Given the description of an element on the screen output the (x, y) to click on. 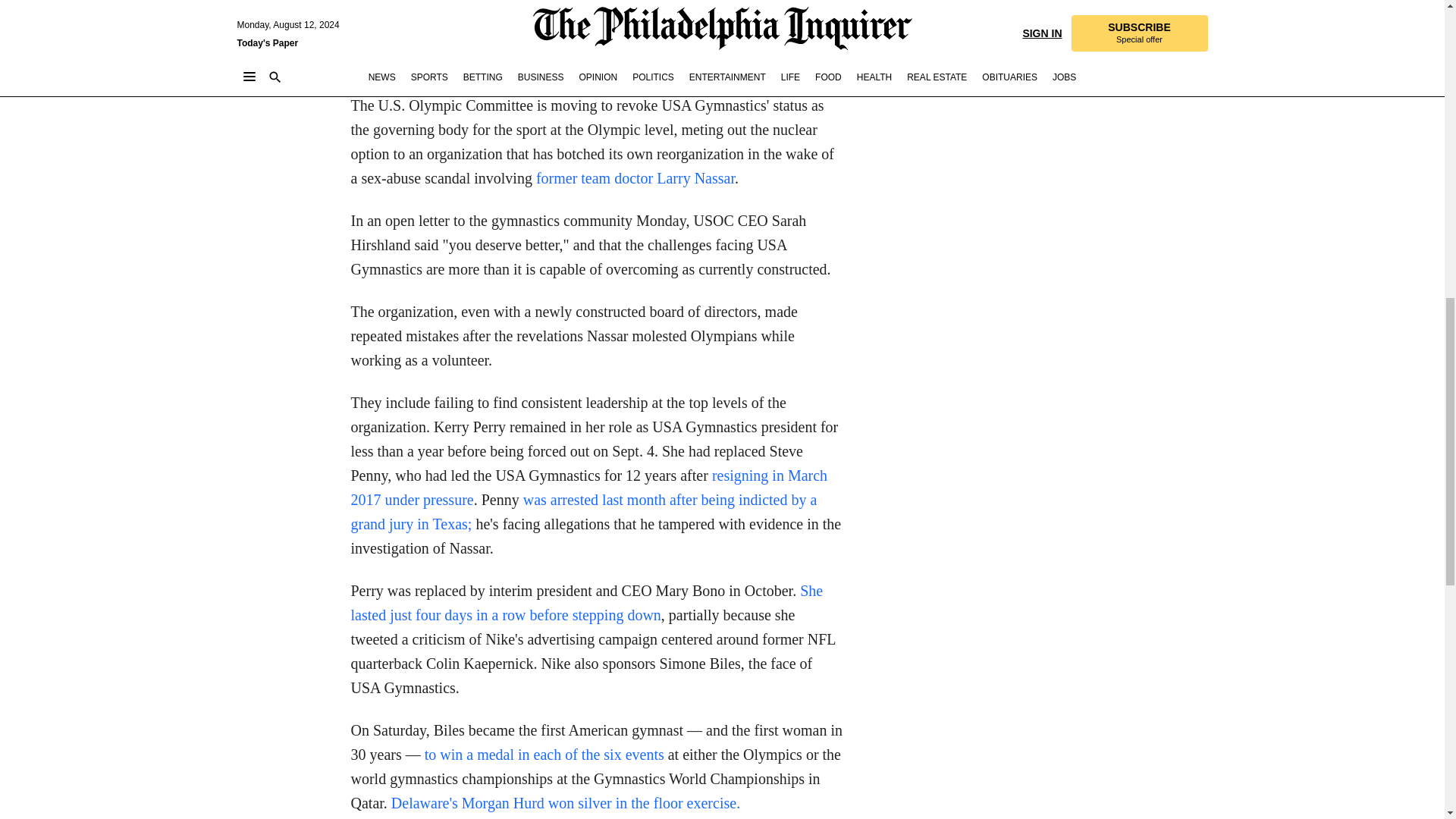
She lasted just four days in a row before stepping down (586, 602)
to win a medal in each of the six events (544, 754)
former team doctor Larry Nassar (635, 177)
resigning in March 2017 under pressure (588, 486)
